Given the description of an element on the screen output the (x, y) to click on. 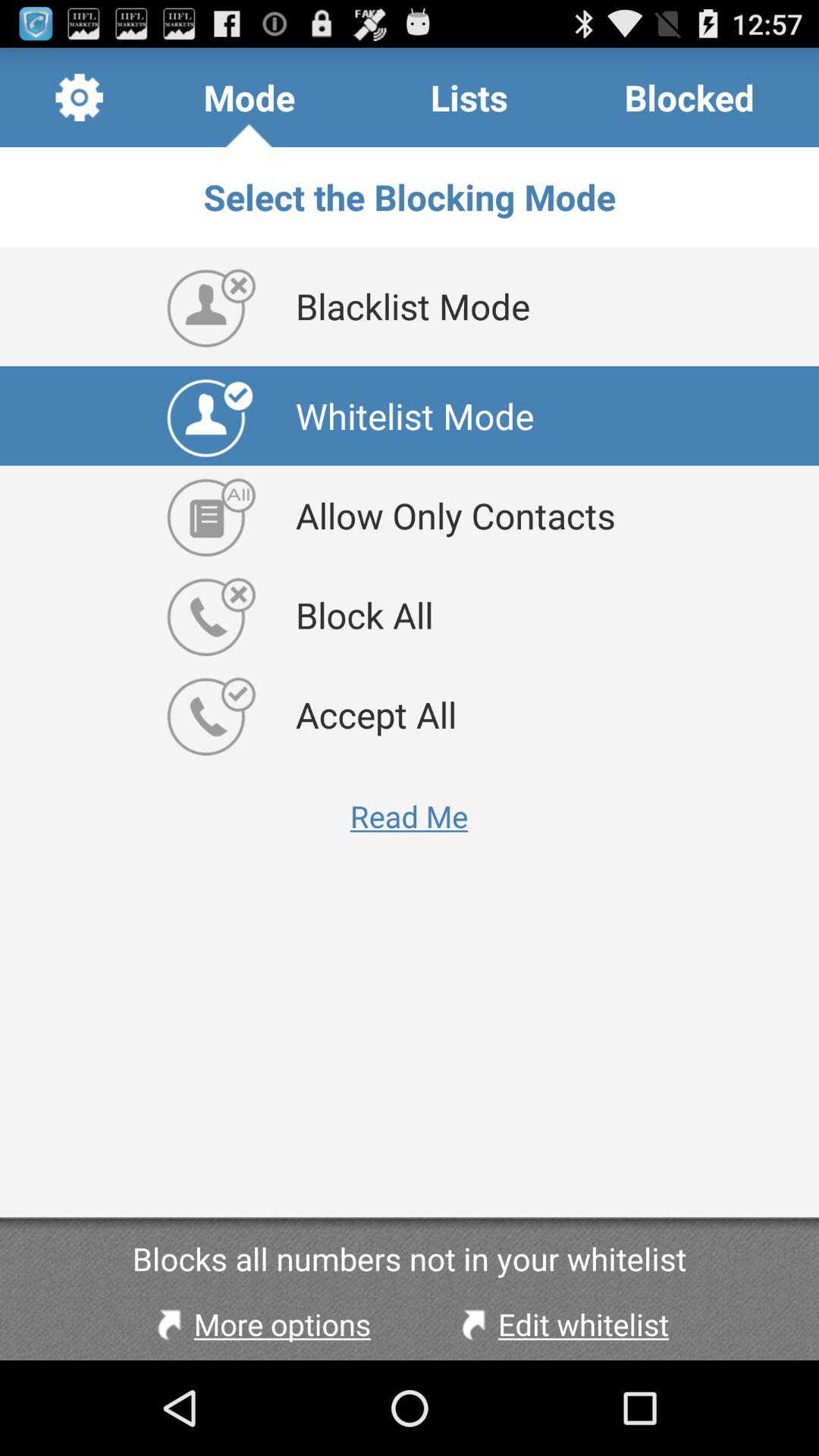
select item to the right of lists (689, 97)
